Given the description of an element on the screen output the (x, y) to click on. 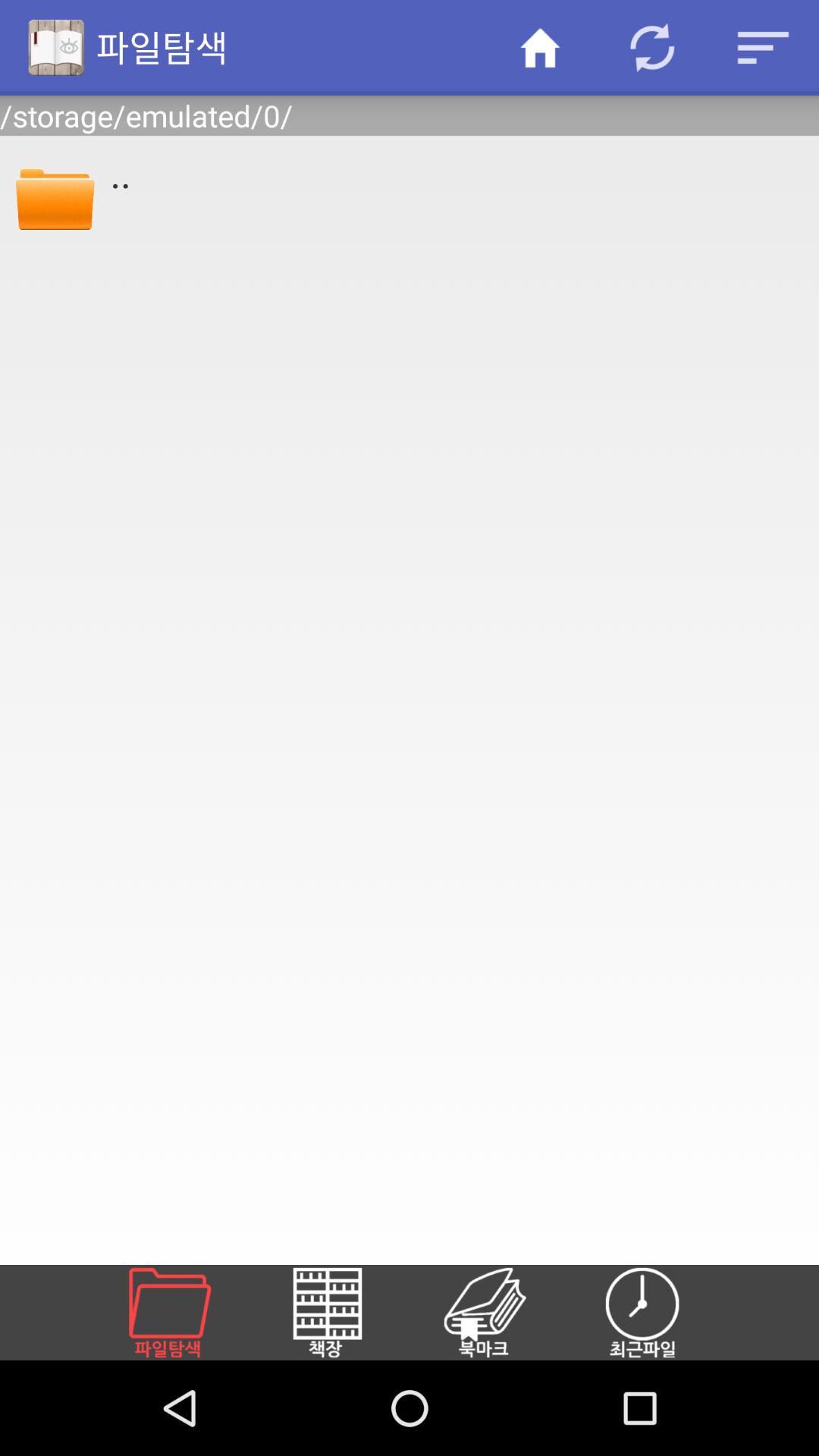
launch the item above the /storage/emulated/0/ app (763, 47)
